Given the description of an element on the screen output the (x, y) to click on. 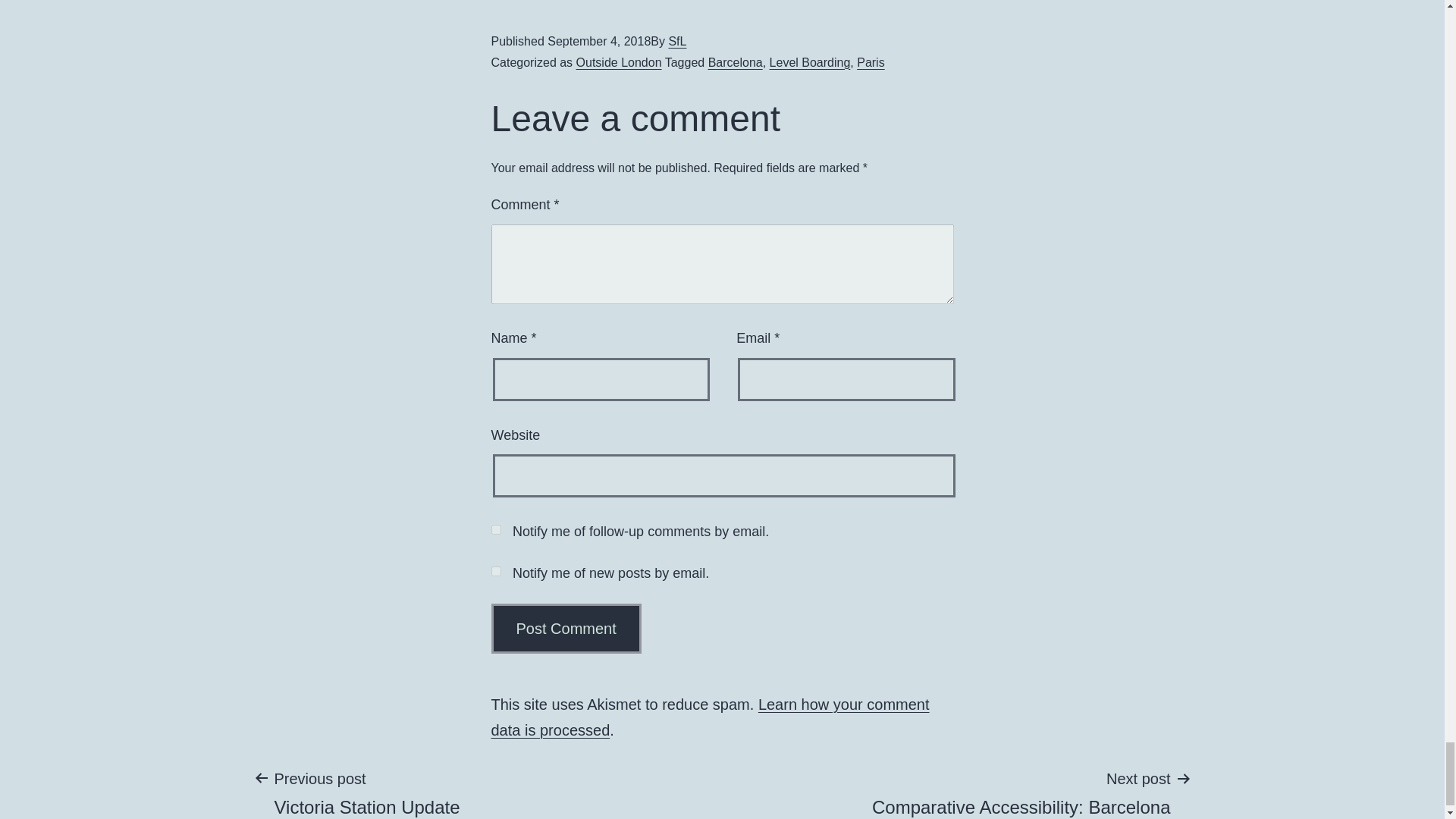
SfL (676, 41)
Post Comment (567, 628)
Outside London (619, 62)
Barcelona (734, 62)
